Given the description of an element on the screen output the (x, y) to click on. 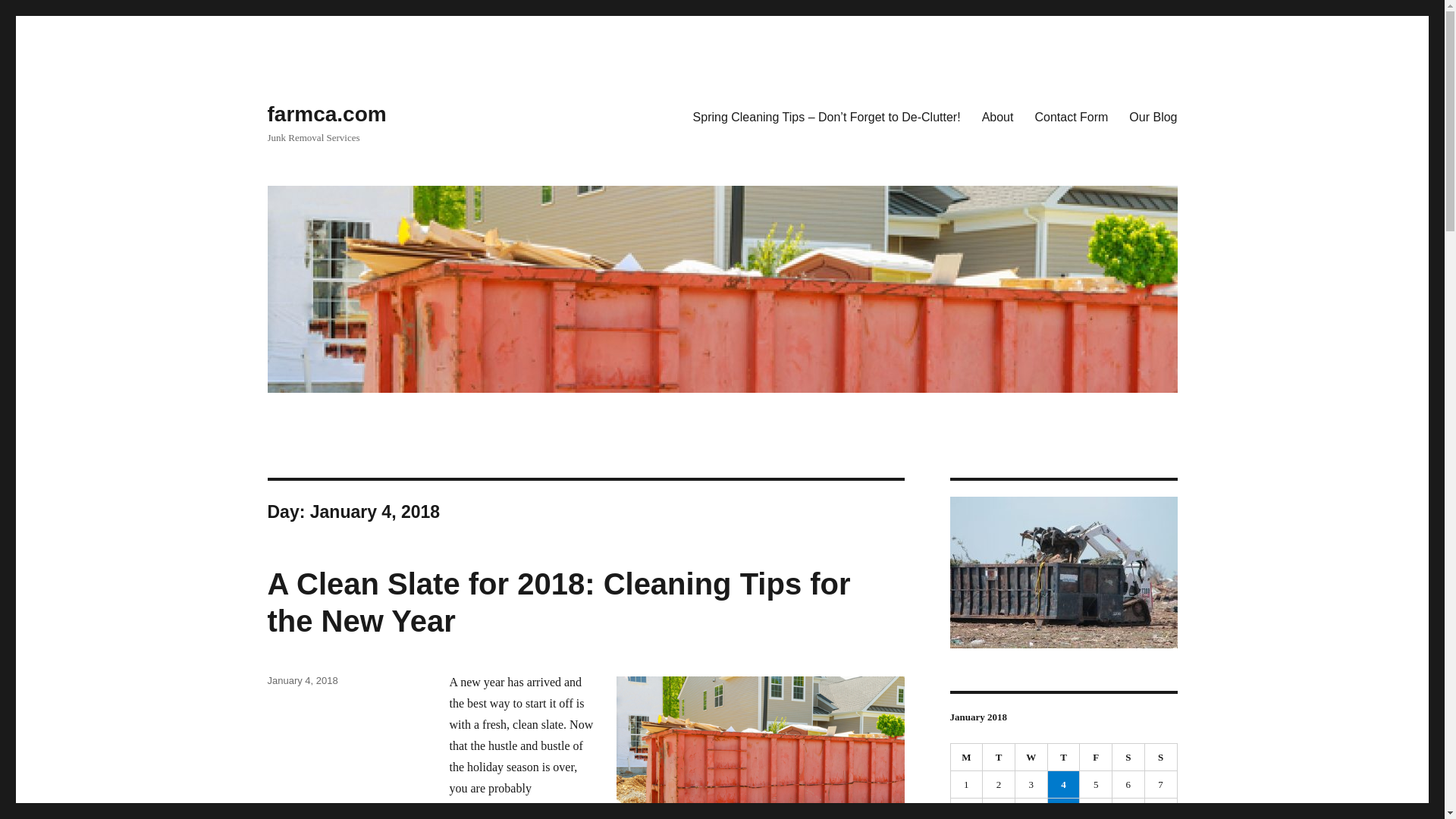
farmca.com (325, 114)
January 4, 2018 (301, 680)
Contact Form (1070, 116)
Monday (967, 757)
4 (1064, 784)
A Clean Slate for 2018: Cleaning Tips for the New Year (558, 602)
Saturday (1128, 757)
Friday (1096, 757)
11 (1064, 808)
Sunday (1160, 757)
